Given the description of an element on the screen output the (x, y) to click on. 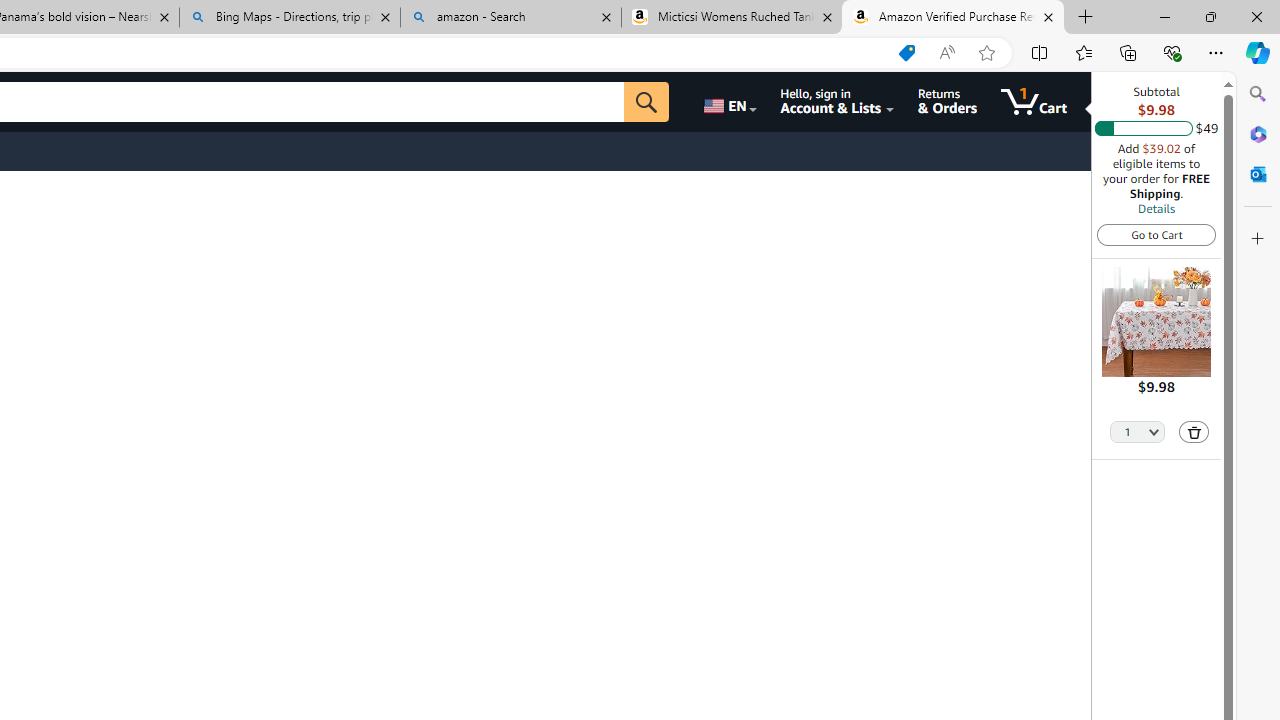
Quantity Selector (1137, 430)
Amazon Verified Purchase Reviews - Amazon Customer Service (953, 17)
Go to Cart (1156, 234)
Details (1156, 208)
Returns & Orders (946, 101)
1 item in cart (1034, 101)
Hello, sign in Account & Lists (836, 101)
Delete (1193, 431)
